Given the description of an element on the screen output the (x, y) to click on. 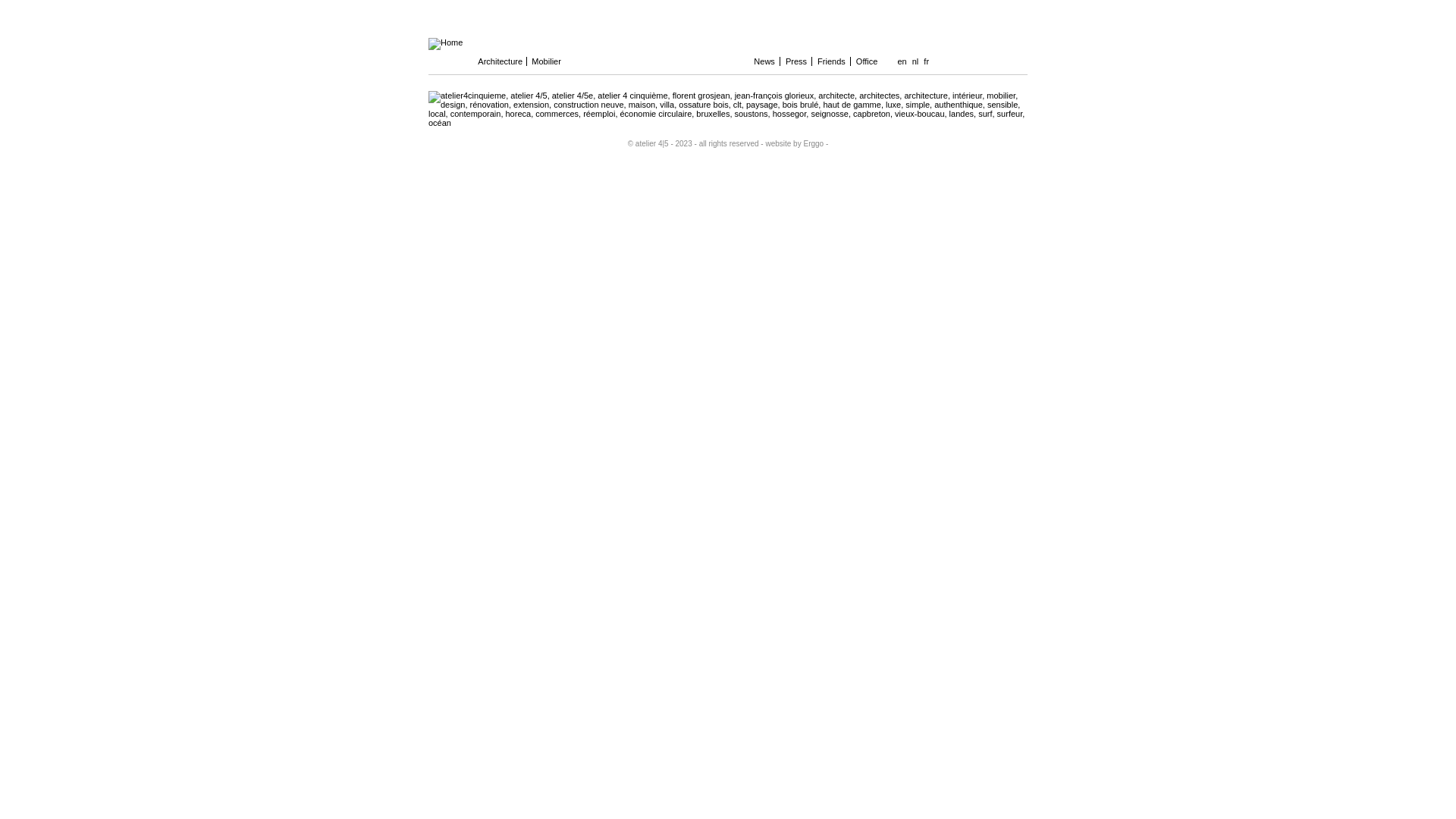
fr Element type: text (926, 60)
- website by Erggo - Element type: text (794, 143)
nl Element type: text (915, 60)
Mobilier Element type: text (554, 60)
Home Element type: hover (445, 42)
Friends Element type: text (832, 60)
Architecture Element type: text (500, 60)
News Element type: text (765, 60)
en Element type: text (901, 60)
Press Element type: text (797, 60)
Office Element type: text (867, 60)
